Given the description of an element on the screen output the (x, y) to click on. 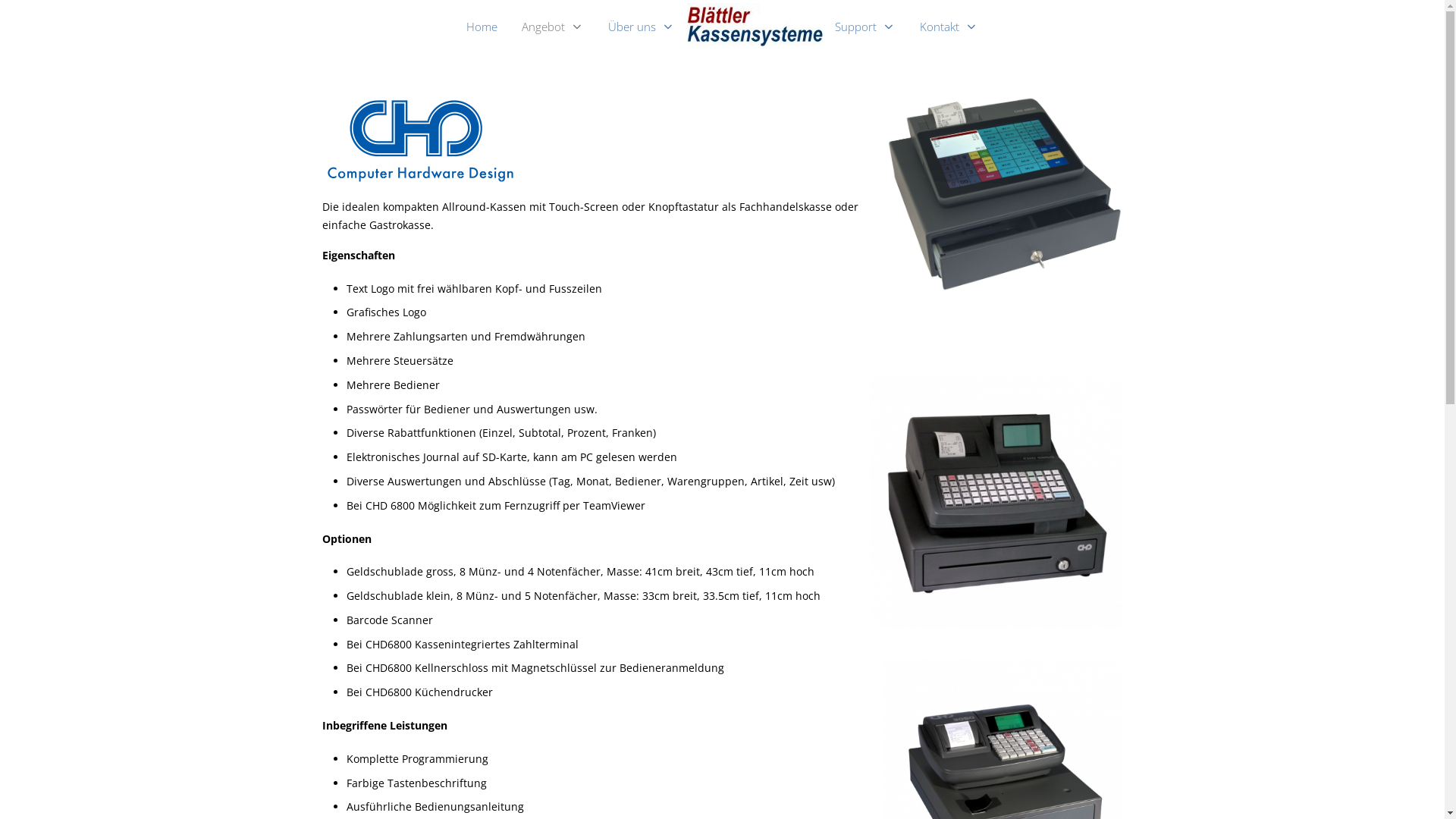
Support Element type: text (864, 25)
Angebot Element type: text (552, 25)
Home Element type: text (481, 25)
Kontakt Element type: text (948, 25)
